Given the description of an element on the screen output the (x, y) to click on. 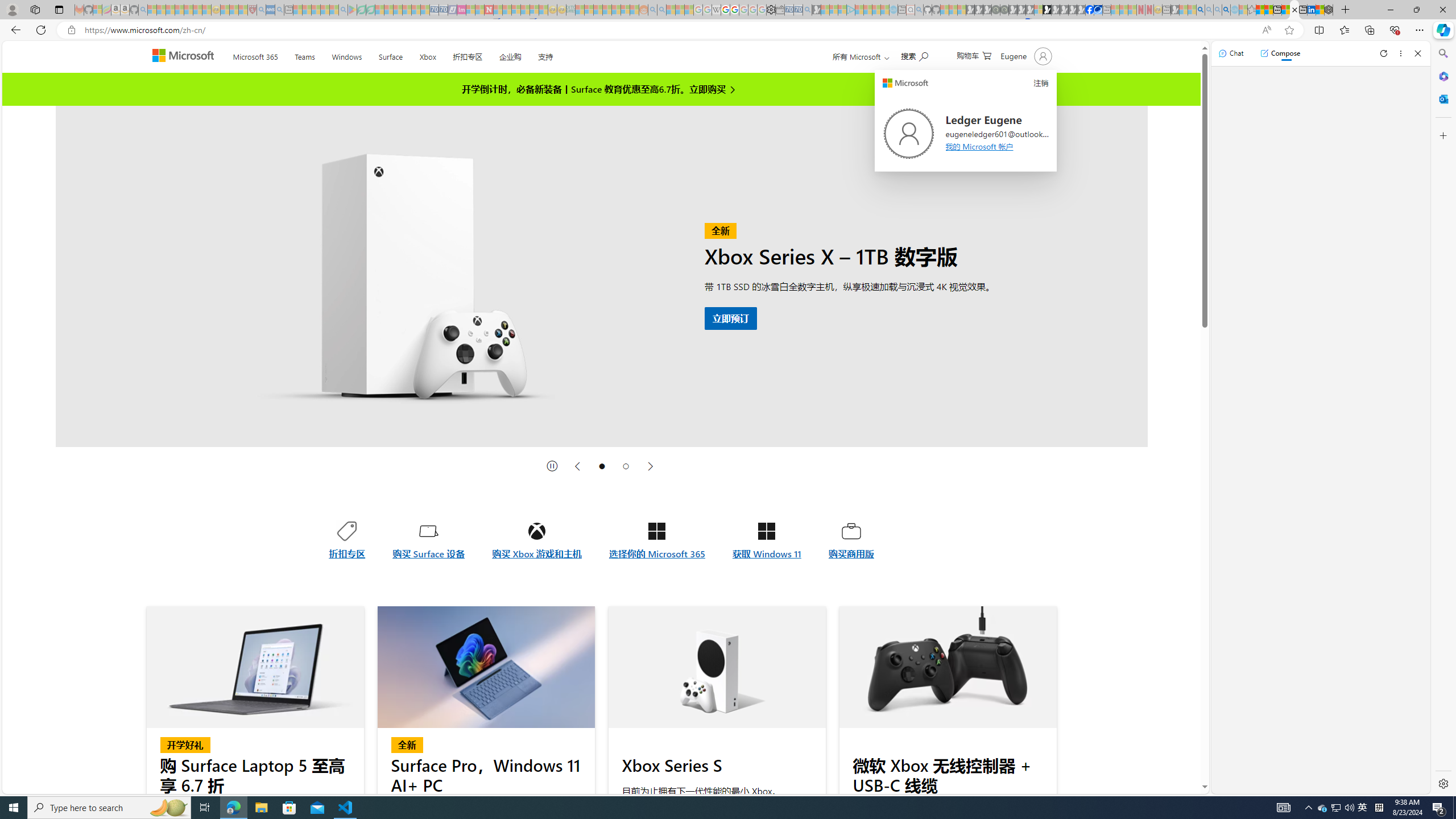
Side bar (1443, 418)
Utah sues federal government - Search - Sleeping (661, 9)
Bing AI - Search (1200, 9)
Pets - MSN - Sleeping (324, 9)
Add this page to favorites (Ctrl+D) (1289, 29)
Bing Real Estate - Home sales and rental listings - Sleeping (806, 9)
New tab (1302, 9)
Windows (346, 54)
Collections (1369, 29)
Personal Profile (12, 9)
